Given the description of an element on the screen output the (x, y) to click on. 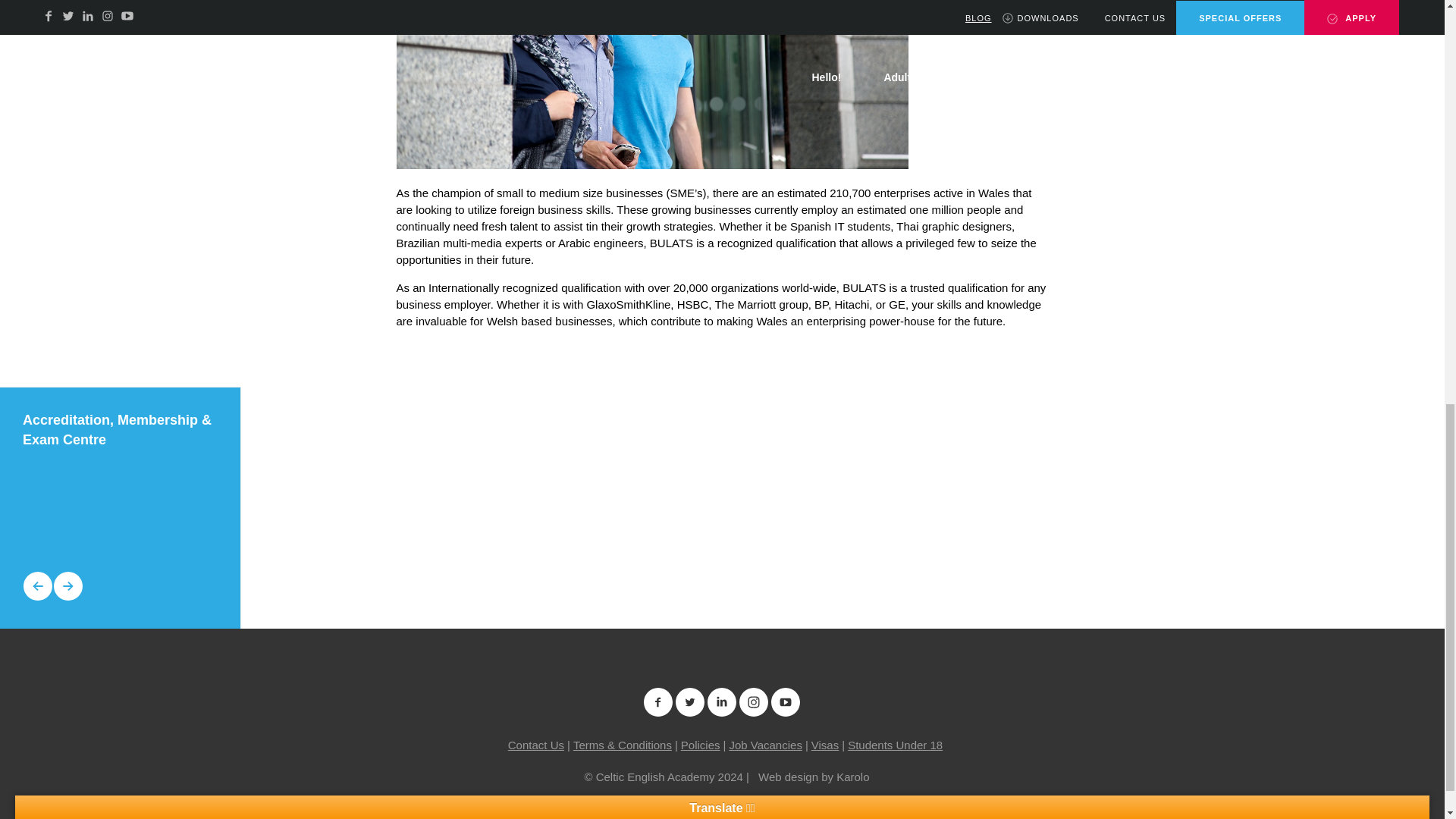
Find us on Instagram (753, 702)
Find us on Twitter (689, 702)
Find us on YouTube (785, 702)
Find us on LinkedIn (721, 702)
Find us on Facebook (657, 702)
